Given the description of an element on the screen output the (x, y) to click on. 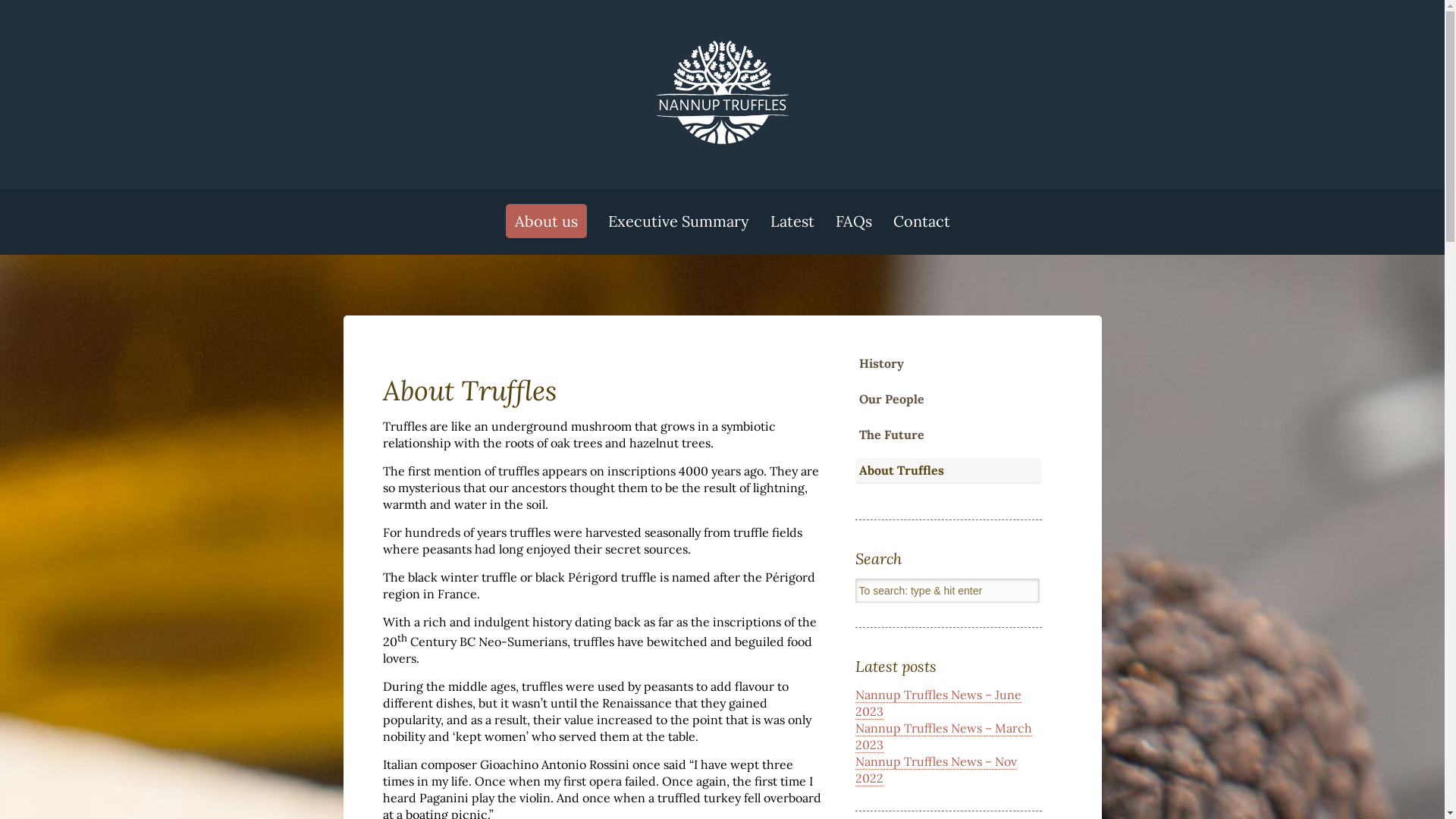
About us Element type: text (545, 220)
The Future Element type: text (890, 434)
Contact Element type: text (921, 220)
FAQs Element type: text (853, 220)
Latest Element type: text (792, 220)
Executive Summary Element type: text (678, 220)
About Truffles Element type: text (900, 469)
Our People Element type: text (890, 398)
History Element type: text (880, 362)
